Given the description of an element on the screen output the (x, y) to click on. 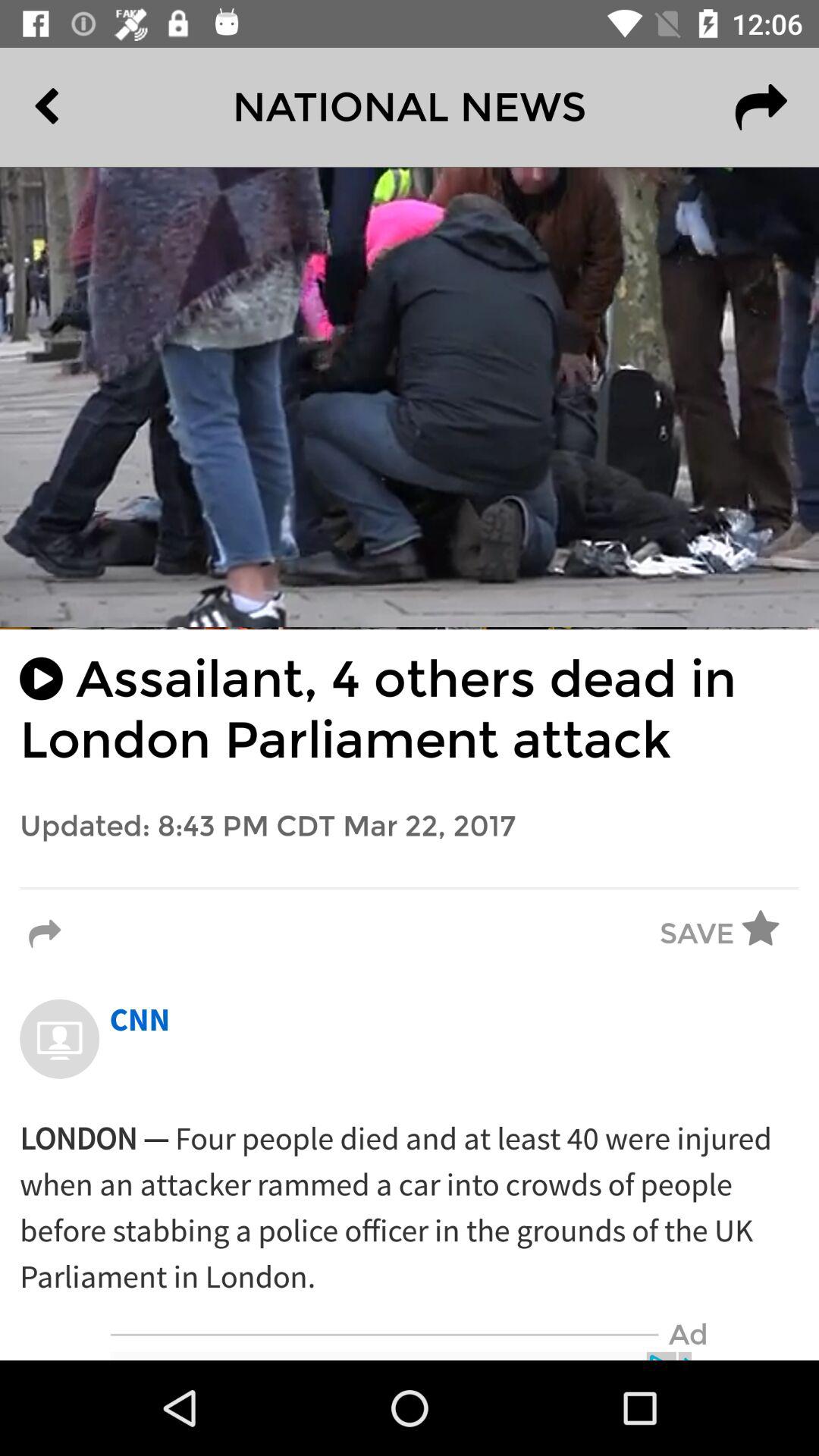
tap the icon below the updated 8 43 item (409, 888)
